Given the description of an element on the screen output the (x, y) to click on. 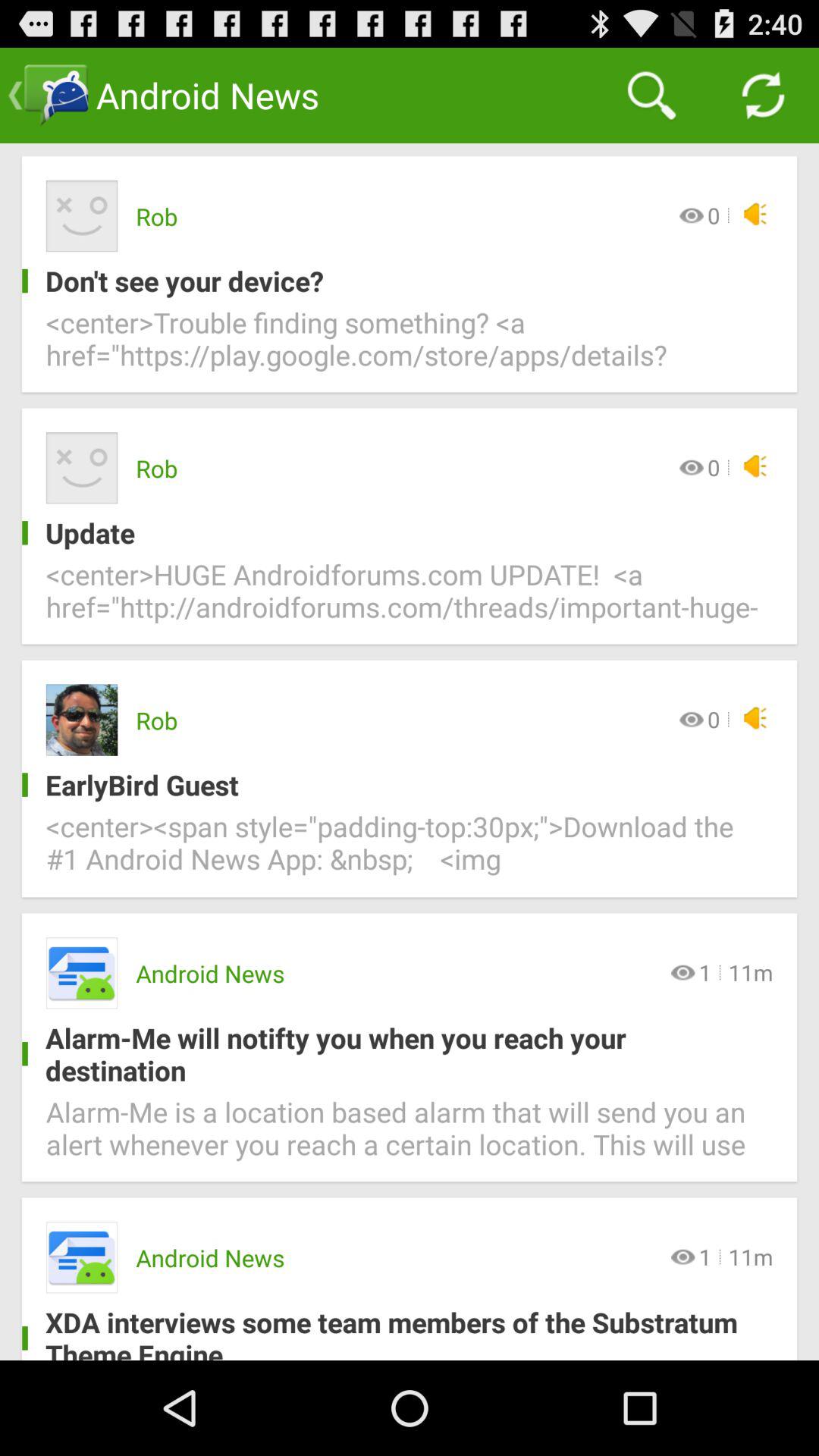
jump to xda interviews some icon (397, 1331)
